Given the description of an element on the screen output the (x, y) to click on. 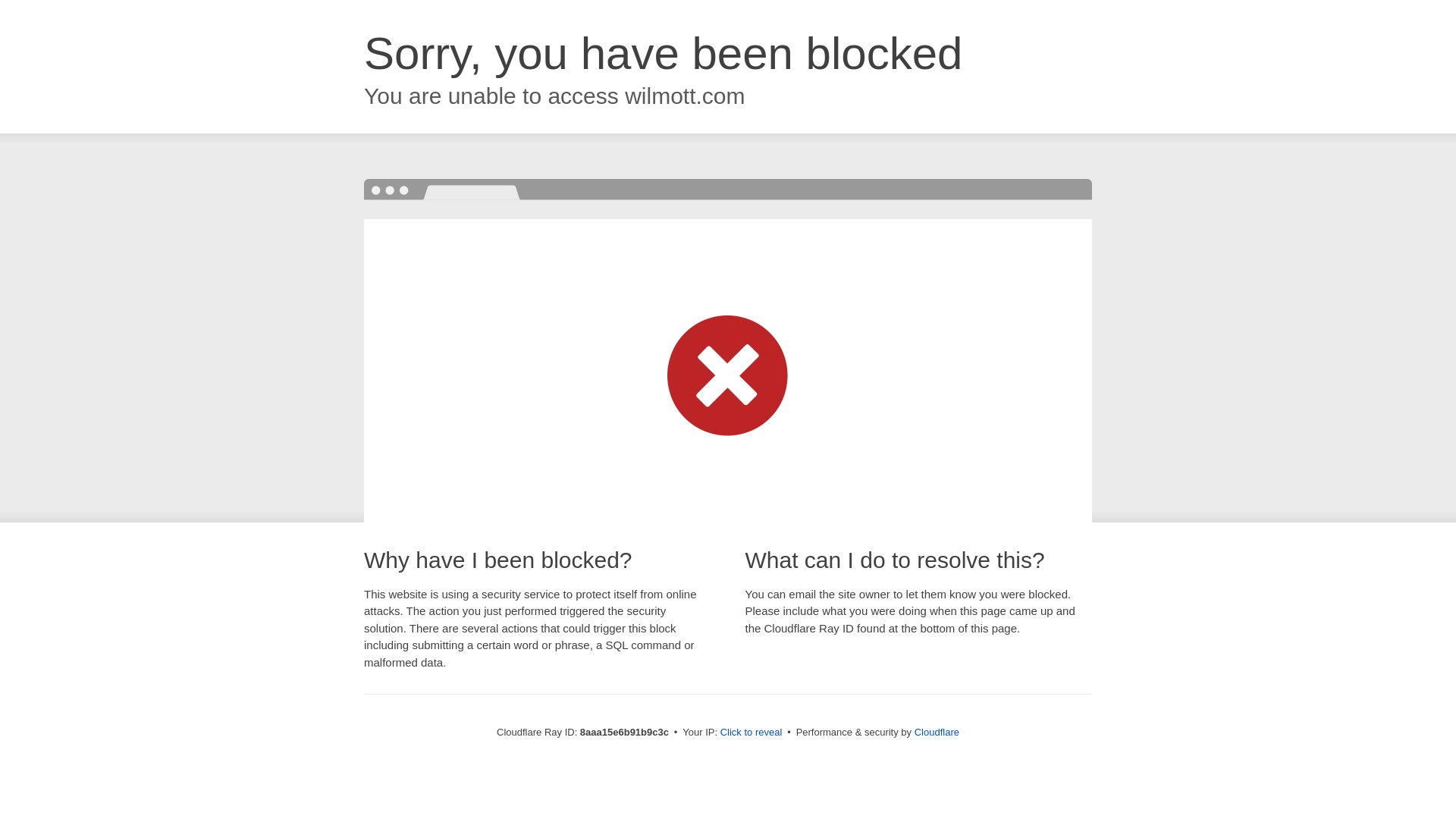
Click to reveal (751, 732)
Cloudflare (936, 731)
